Given the description of an element on the screen output the (x, y) to click on. 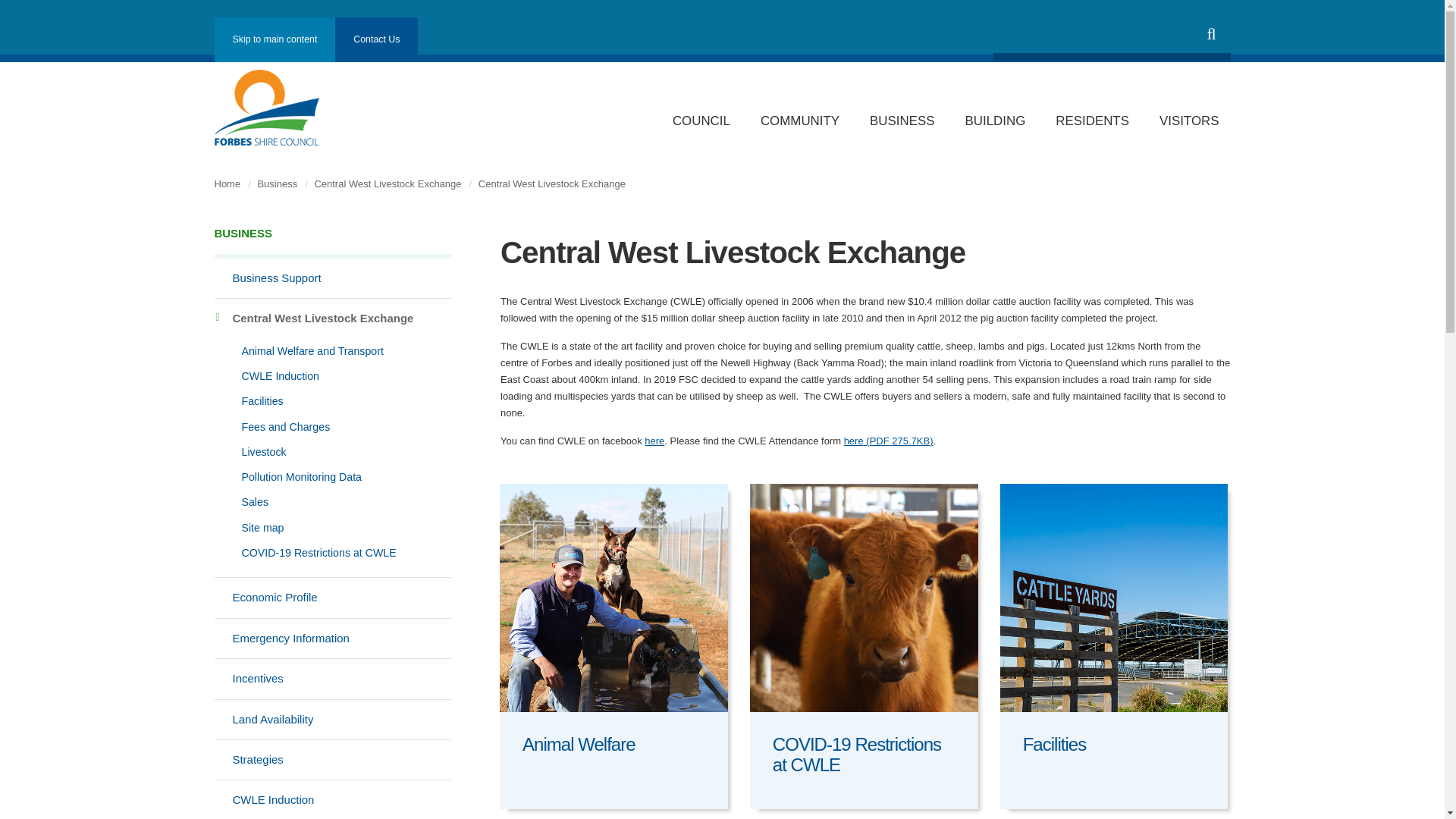
Search (1211, 34)
Skip to main content (274, 39)
Central West Livestock Exchange (332, 318)
Animal Welfare and Transport (332, 351)
Business (332, 241)
Livestock (332, 452)
Contact Us (375, 35)
Site map (332, 527)
Sales (332, 502)
Fees and Charges (332, 426)
